Given the description of an element on the screen output the (x, y) to click on. 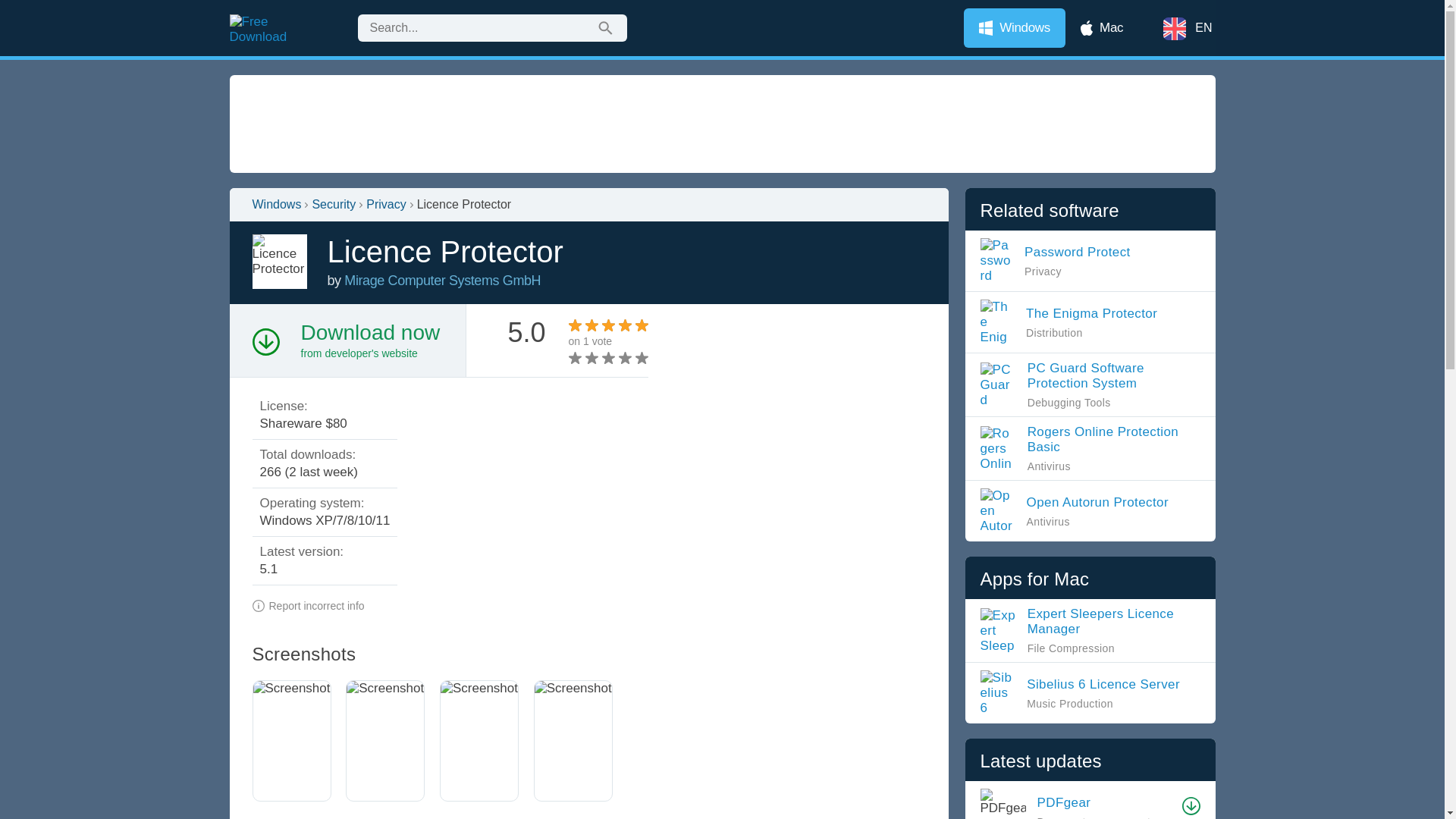
Privacy (1089, 384)
5 (386, 204)
PDFgear (608, 357)
Expert Sleepers Licence Manager (1104, 801)
Open Autorun Protector (1089, 630)
Password Protect (1078, 510)
Security (1060, 260)
Windows (333, 204)
